Given the description of an element on the screen output the (x, y) to click on. 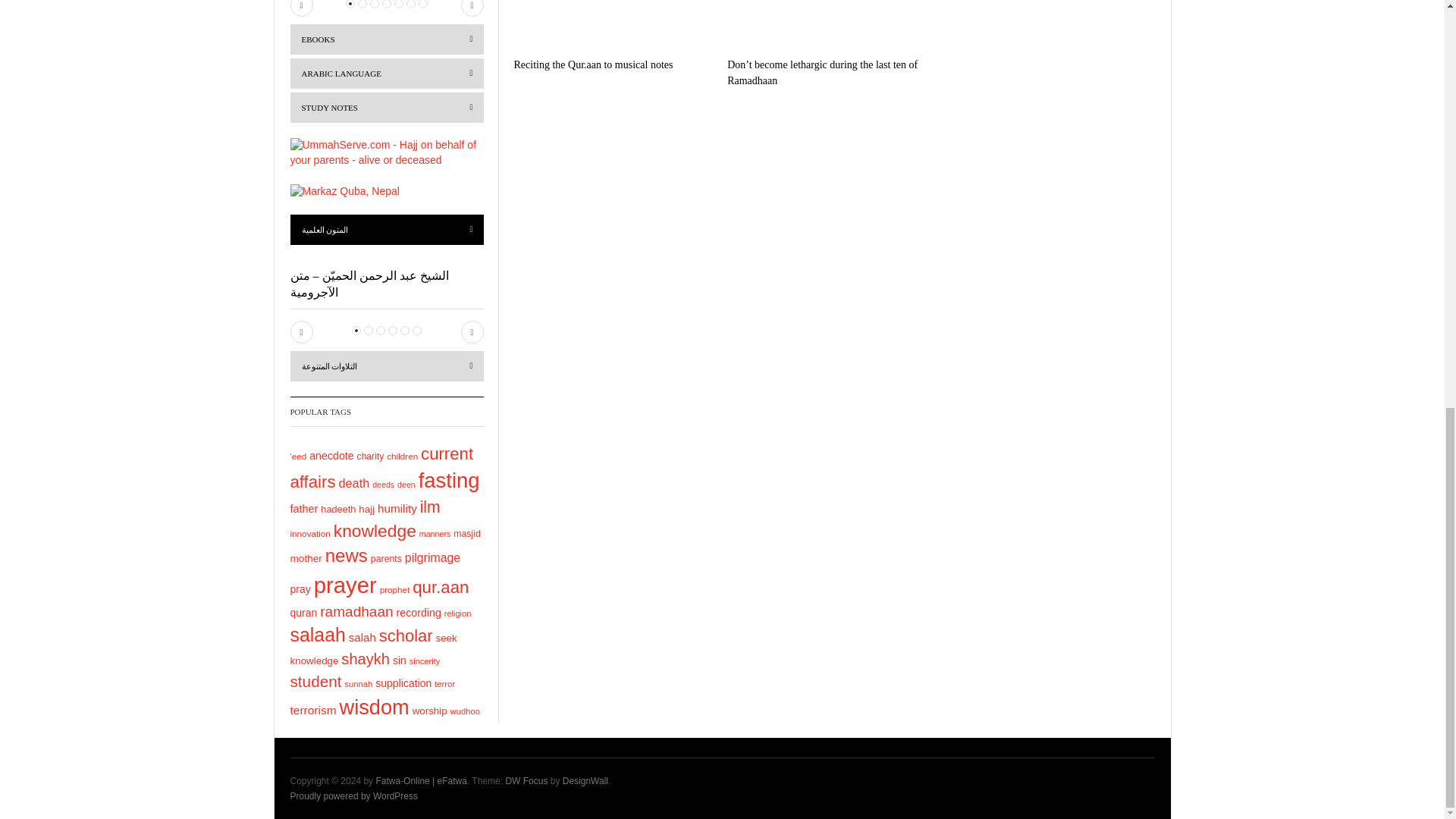
Permalink to Reciting the Qur.aan to musical notes (592, 64)
